Given the description of an element on the screen output the (x, y) to click on. 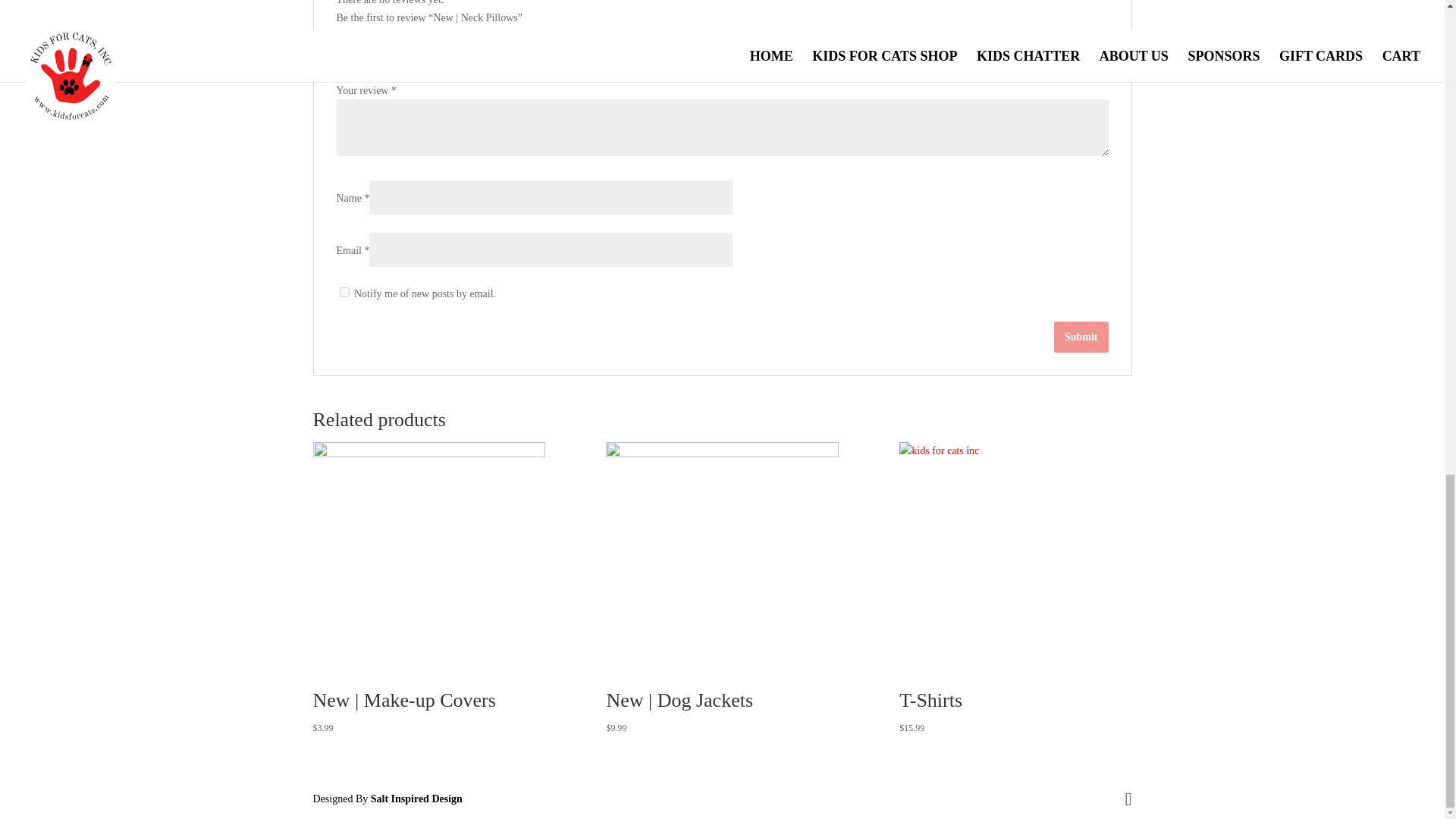
subscribe (344, 292)
Submit (1081, 336)
Submit (1081, 336)
Salt Inspired Design (417, 798)
